Given the description of an element on the screen output the (x, y) to click on. 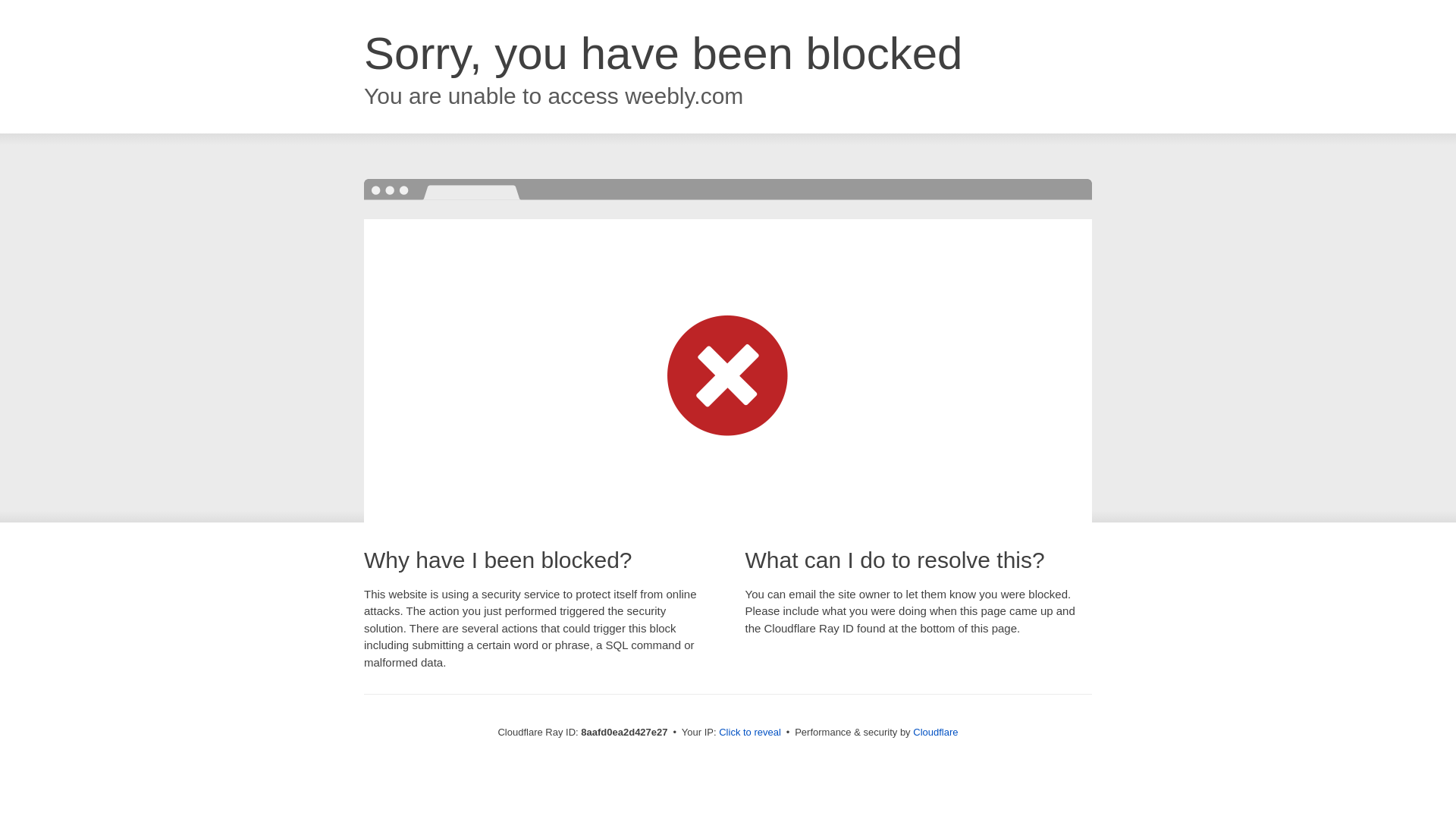
Cloudflare (935, 731)
Click to reveal (749, 732)
